Given the description of an element on the screen output the (x, y) to click on. 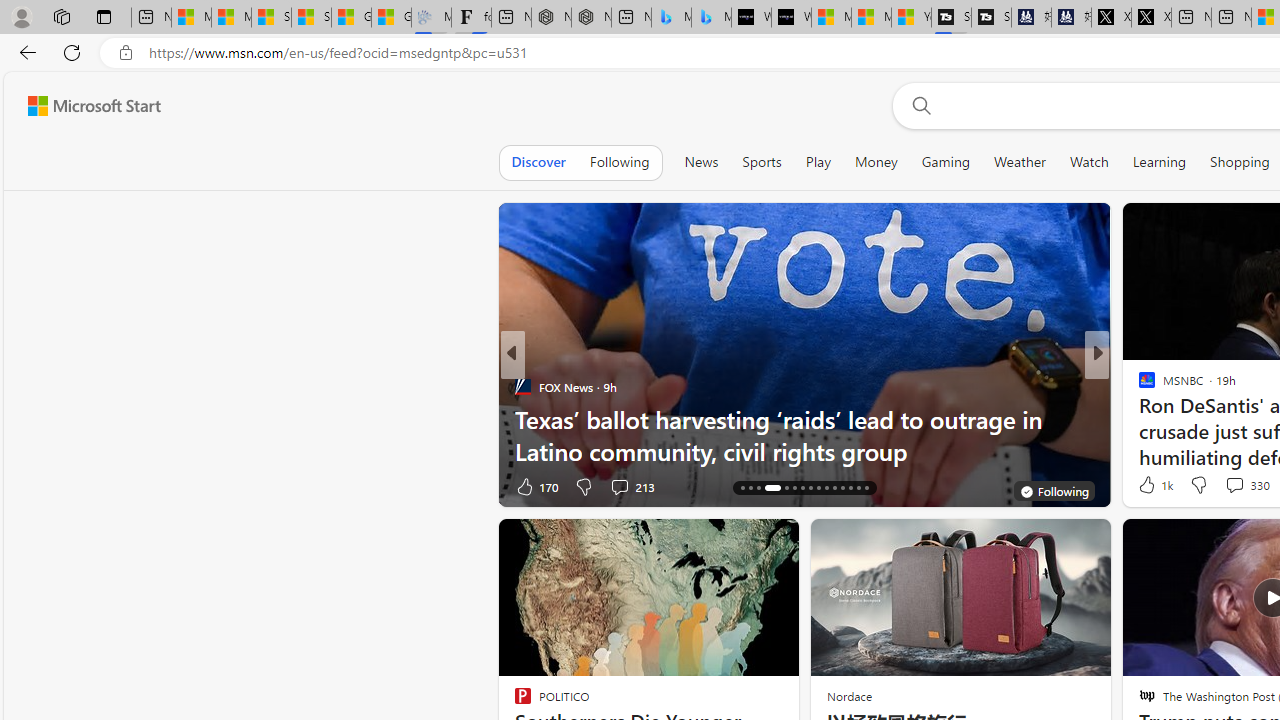
Stacker (1138, 386)
Microsoft Bing Travel - Shangri-La Hotel Bangkok (711, 17)
View comments 55 Comment (1237, 486)
91 Like (1149, 486)
AutomationID: tab-17 (750, 487)
AutomationID: tab-19 (772, 487)
Planning to Organize (1138, 386)
Gaming (945, 161)
Business Insider (1138, 386)
AutomationID: tab-25 (825, 487)
Shopping (1240, 161)
Weather (1020, 161)
View comments 6 Comment (1241, 486)
